Given the description of an element on the screen output the (x, y) to click on. 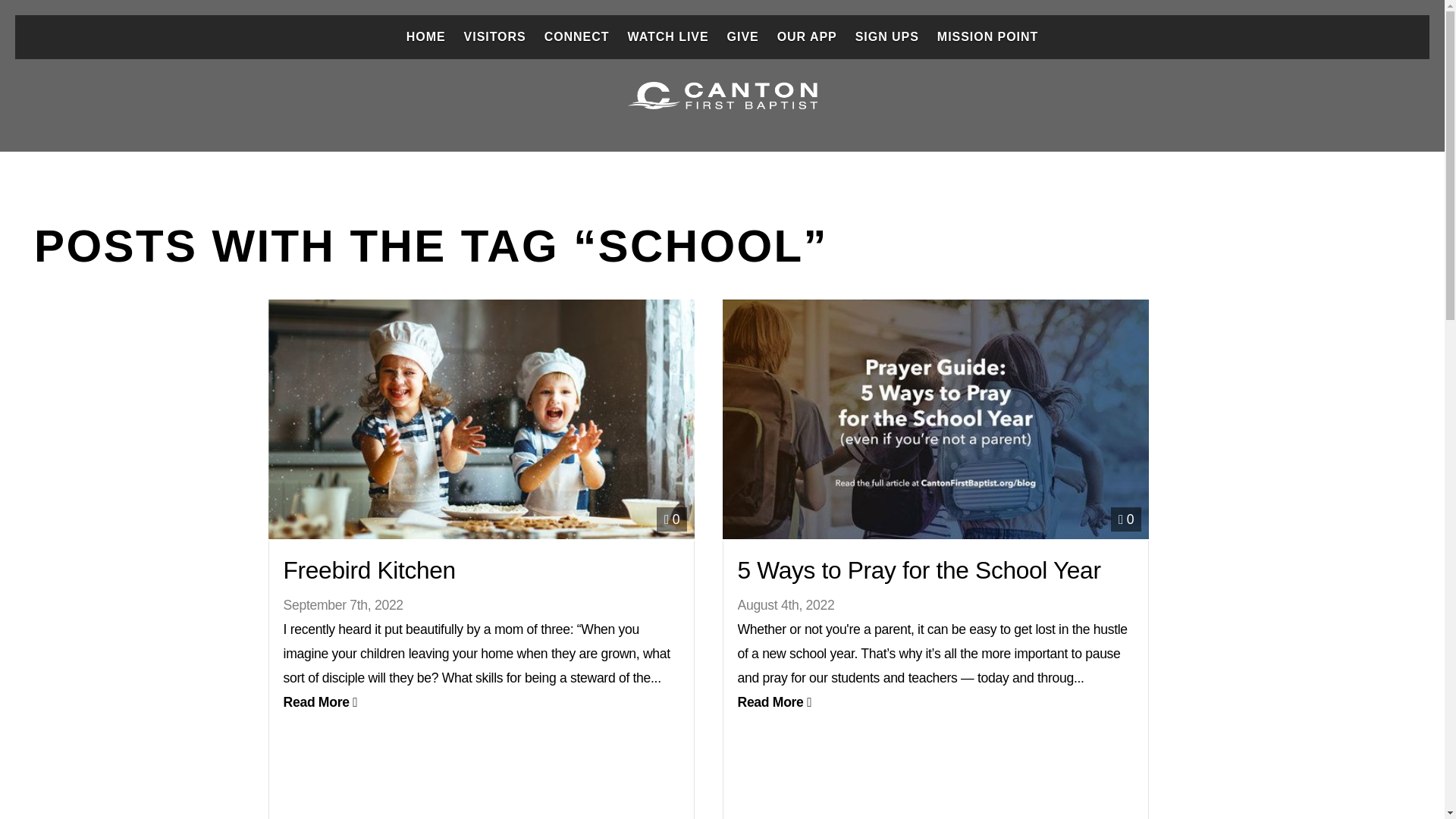
WATCH LIVE (668, 36)
HOME (425, 36)
SIGN UPS (886, 36)
MISSION POINT (987, 36)
OUR APP (807, 36)
CONNECT (577, 36)
GIVE (743, 36)
VISITORS (495, 36)
